Given the description of an element on the screen output the (x, y) to click on. 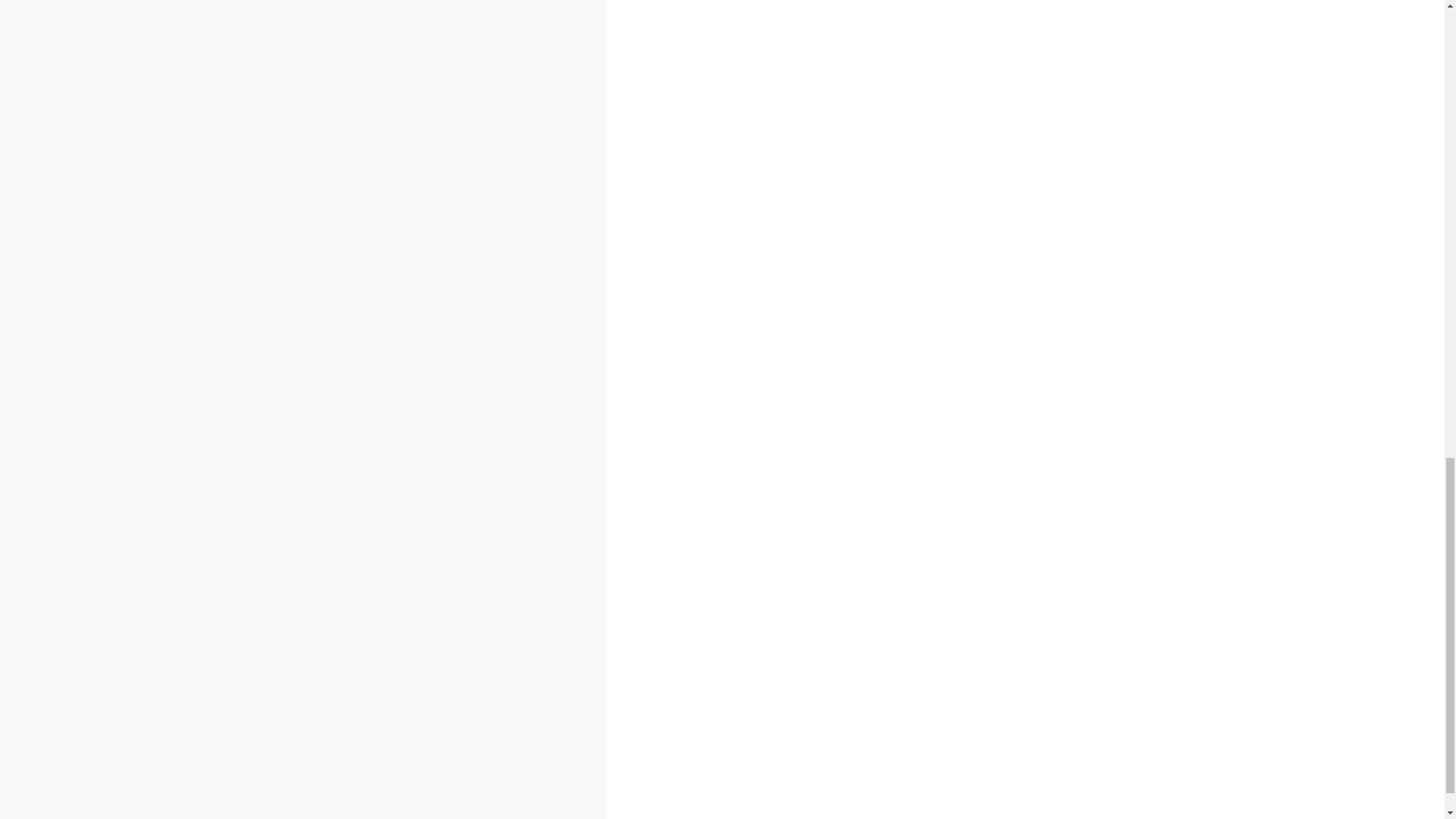
December 2022 (137, 638)
September 2022 (140, 688)
April 2024 (122, 365)
July 2024 (120, 314)
July 2023 (120, 519)
March 2023 (127, 586)
October 2022 (131, 671)
May 2024 (121, 349)
January 2023 (130, 620)
9 Situs Togel Online Terbaik untuk Penggemar Togel (286, 115)
